Given the description of an element on the screen output the (x, y) to click on. 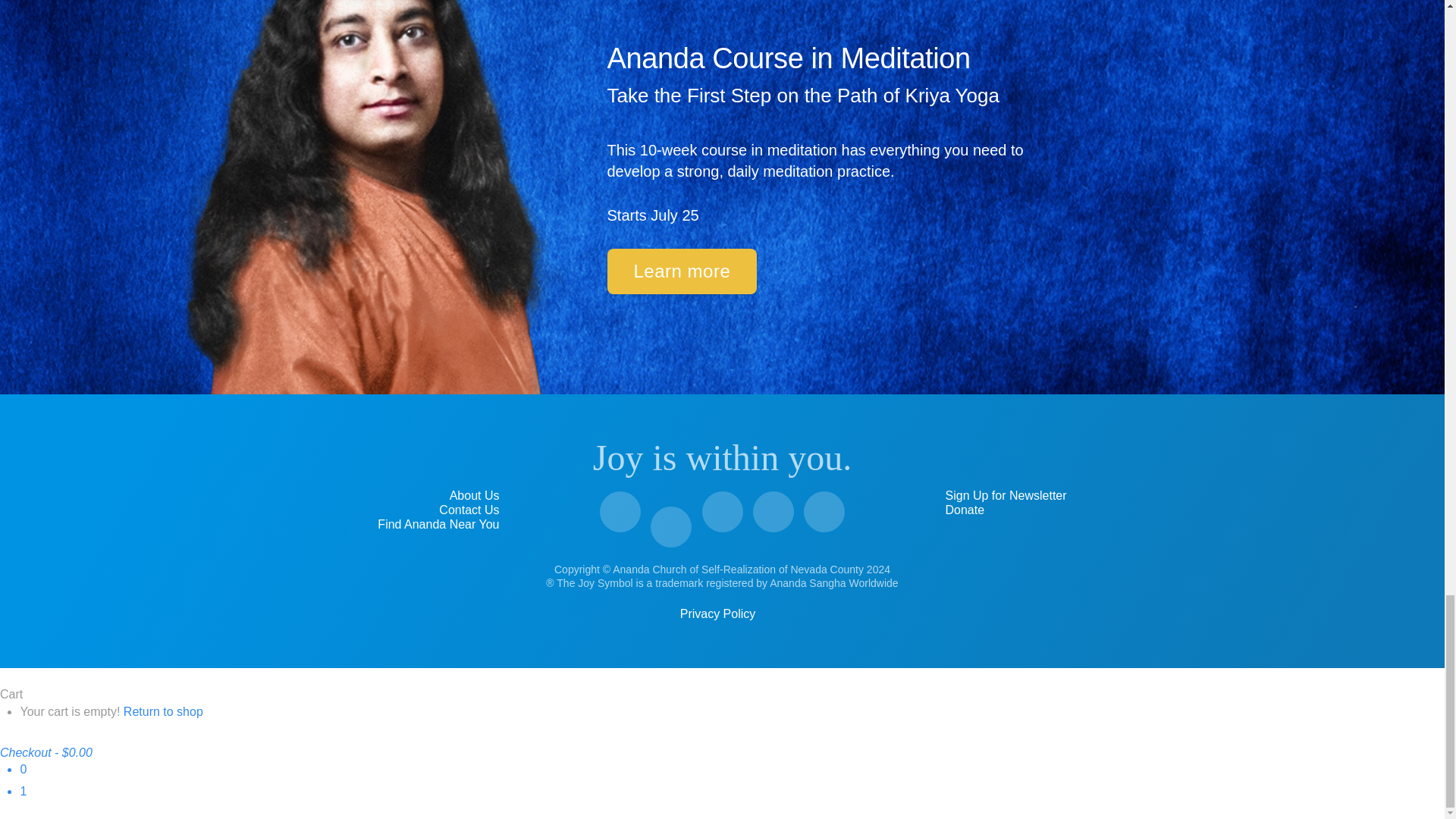
Instagram (721, 511)
Pinterest (772, 511)
Facebook (619, 511)
YouTube (670, 526)
RSS (823, 511)
